Given the description of an element on the screen output the (x, y) to click on. 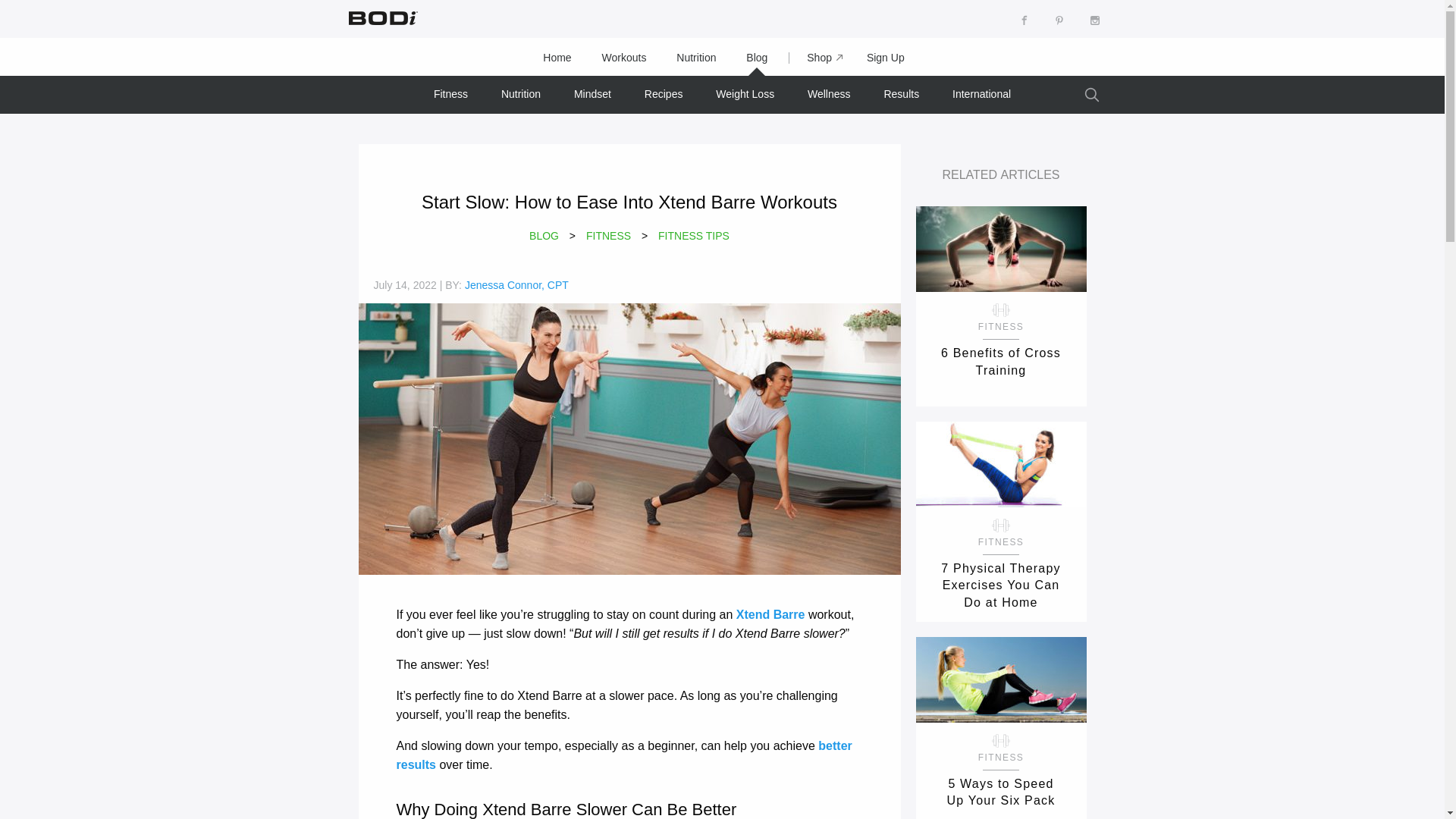
Sign Up (885, 57)
Blog (756, 57)
Beachbody on Demand (381, 17)
Fitness (451, 93)
Workouts (624, 57)
Nutrition (521, 93)
Thursday, July 14, 2022, 7:56 pm (403, 285)
Nutrition (695, 57)
Mindset (592, 93)
Home (556, 57)
